Given the description of an element on the screen output the (x, y) to click on. 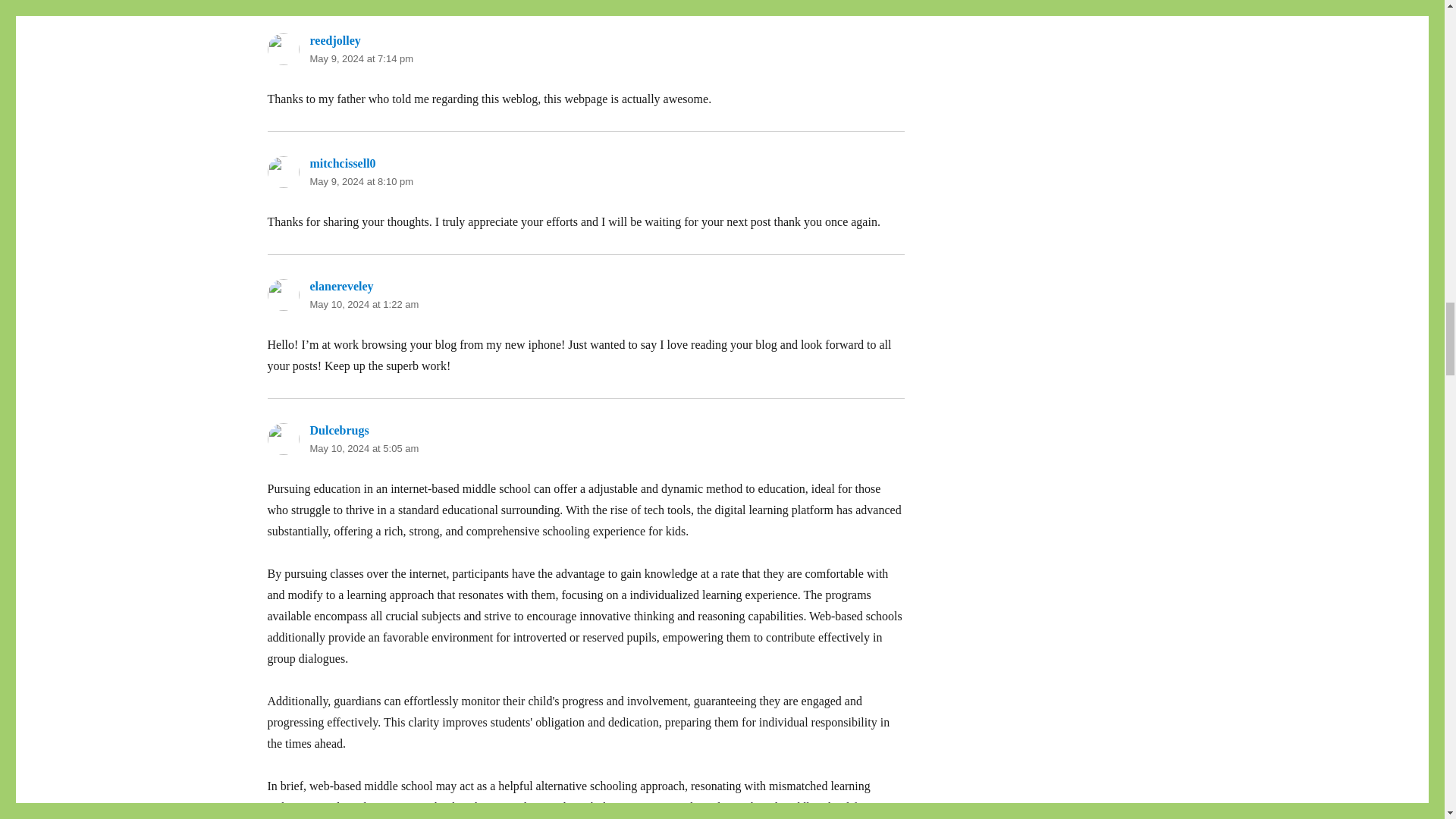
May 10, 2024 at 5:05 am (363, 448)
reedjolley (333, 40)
May 9, 2024 at 7:14 pm (360, 58)
Dulcebrugs (338, 430)
May 9, 2024 at 8:10 pm (360, 181)
May 10, 2024 at 1:22 am (363, 304)
mitchcissell0 (341, 163)
elanereveley (340, 286)
